Given the description of an element on the screen output the (x, y) to click on. 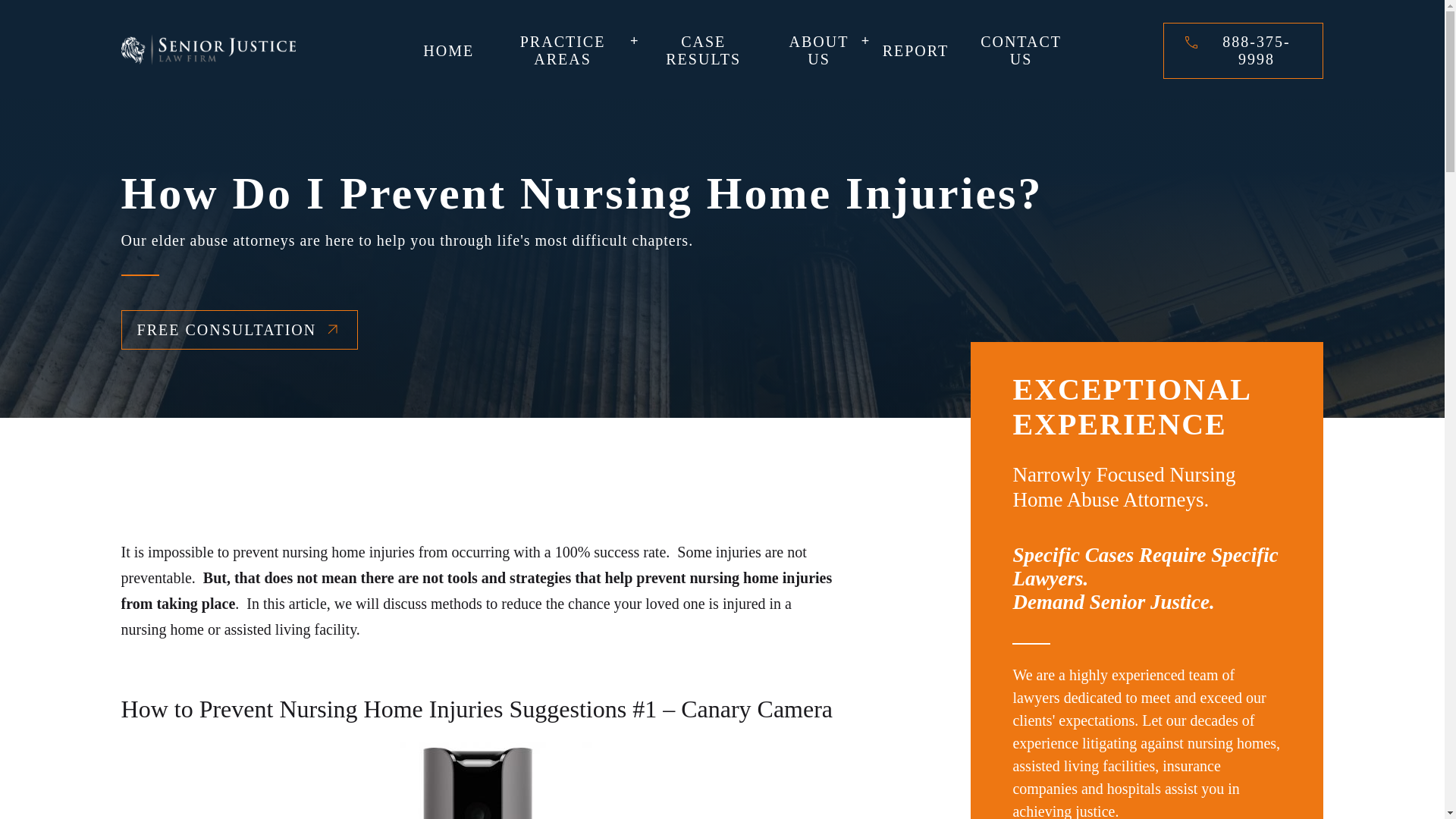
FREE CONSULTATION (239, 329)
888-375-9998 (1256, 50)
ABOUT US (818, 50)
HOME (448, 50)
CONTACT US (1021, 50)
PRACTICE AREAS (562, 50)
CASE RESULTS (702, 50)
REPORT (915, 50)
